Given the description of an element on the screen output the (x, y) to click on. 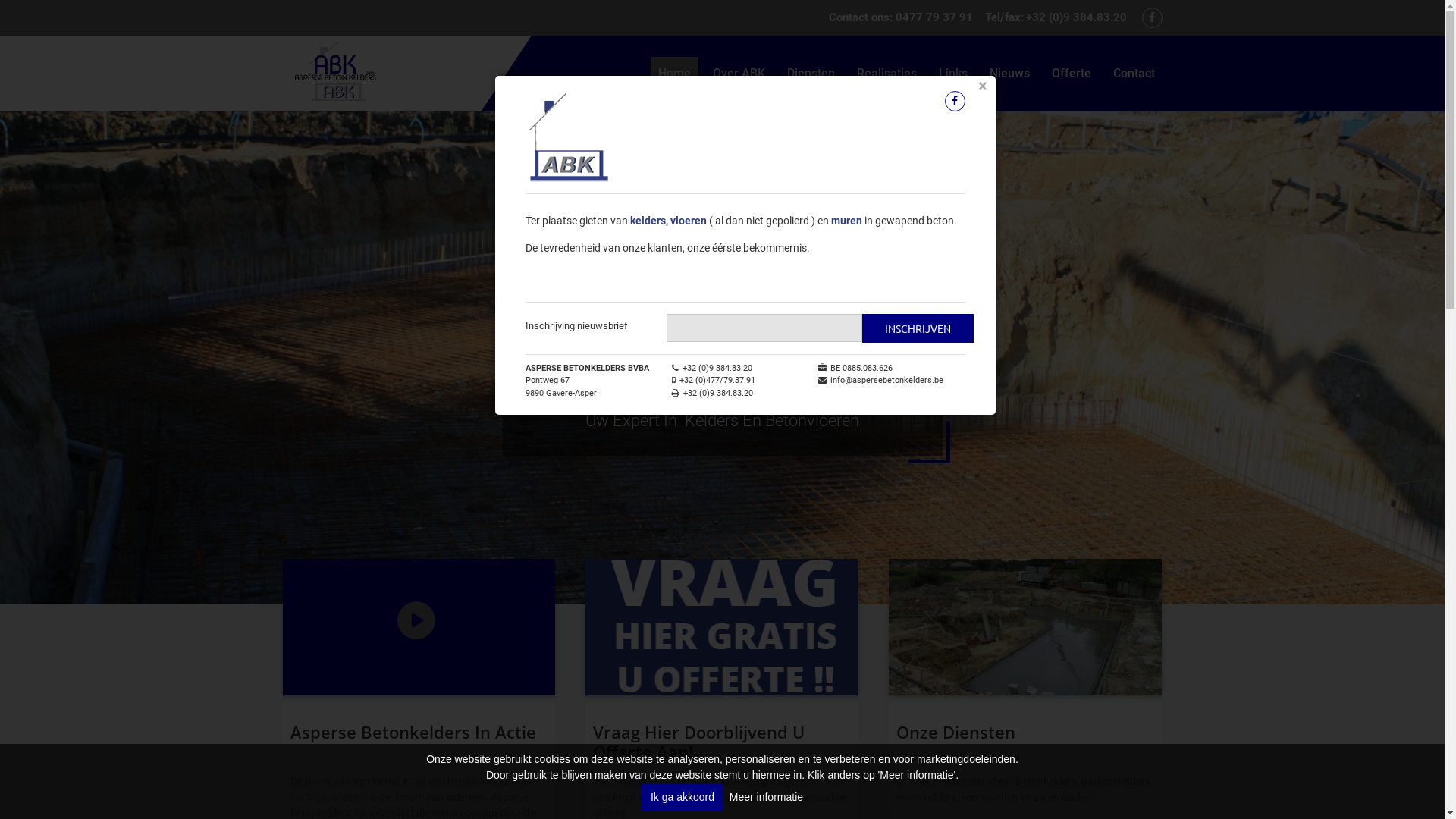
Vraag Hier Doorblijvend U Offerte Aan! Element type: text (698, 741)
Diensten Element type: text (810, 73)
Meer informatie Element type: text (766, 796)
Onze Diensten Element type: text (955, 731)
Realisaties Element type: text (886, 73)
Links Element type: text (953, 73)
Home Element type: text (674, 73)
Offerte Element type: text (1070, 73)
Facebook Element type: hover (954, 101)
+32 (0)9 384.83.20 Element type: text (711, 368)
Asperse Betonkelders In Actie Element type: text (412, 731)
Ik ga akkoord Element type: text (682, 797)
+32 (0)477/79.37.91 Element type: text (713, 380)
Nieuws Element type: text (1008, 73)
Over ABK Element type: text (738, 73)
+32 (0)9 384.83.20 Element type: text (1075, 17)
Inschrijven Element type: text (917, 327)
info@aspersebetonkelders.be Element type: text (886, 380)
Contact Element type: text (1133, 73)
